Given the description of an element on the screen output the (x, y) to click on. 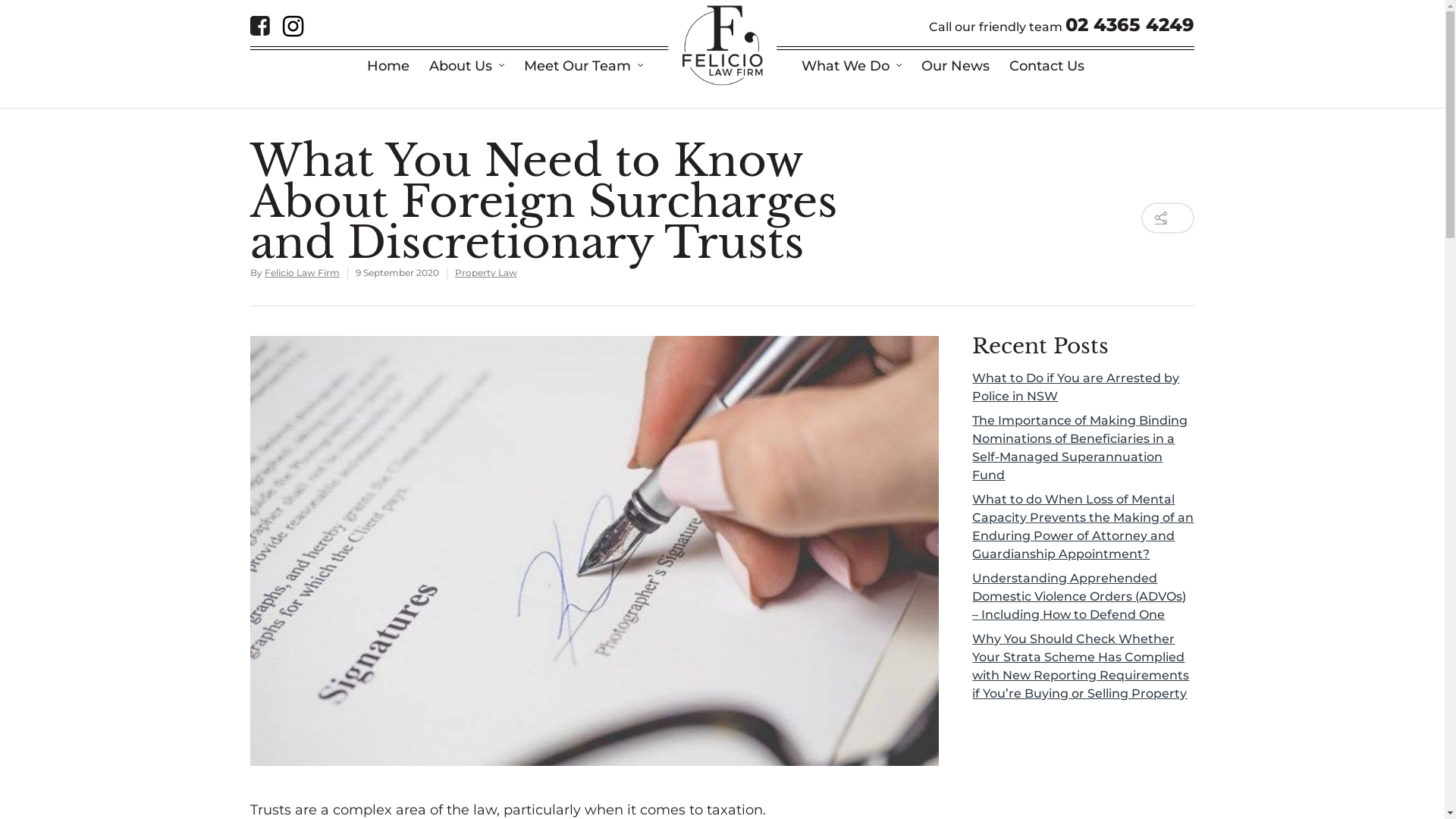
Our News Element type: text (955, 66)
Contact Us Element type: text (1046, 66)
Property Law Element type: text (486, 272)
About Us Element type: text (466, 66)
What We Do Element type: text (851, 66)
Home Element type: text (388, 66)
Call our friendly team 02 4365 4249 Element type: text (1061, 26)
Meet Our Team Element type: text (583, 66)
Felicio Law Firm Element type: text (301, 272)
What to Do if You are Arrested by Police in NSW Element type: text (1083, 387)
